Given the description of an element on the screen output the (x, y) to click on. 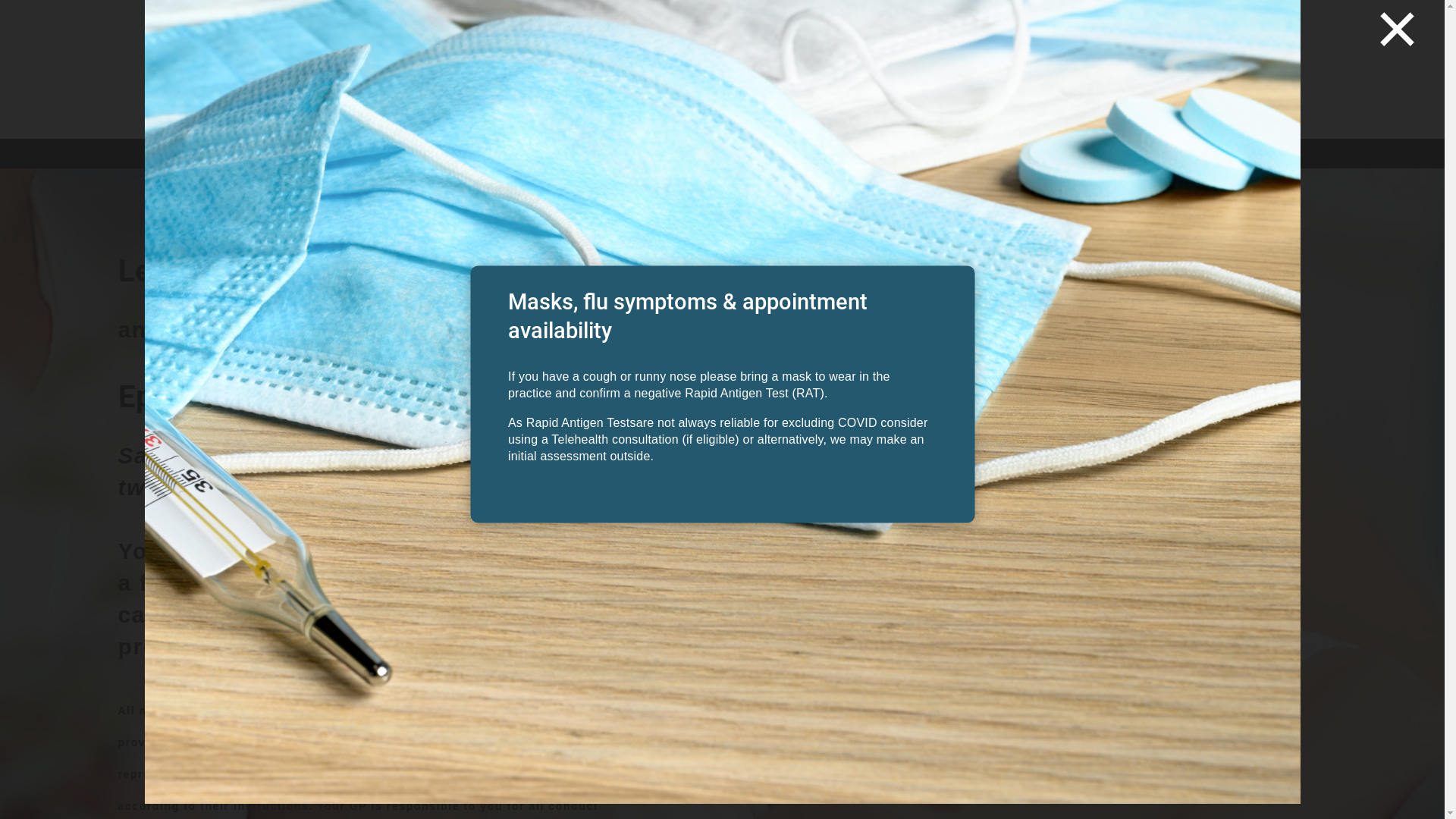
Your doctors Element type: text (392, 156)
About Element type: text (304, 156)
BOOK ONLINE - Lennox Head Medical Element type: text (1117, 30)
Updates Element type: text (682, 156)
Contact Element type: text (750, 156)
BOOK ONLINE - Epiq Medical Centre Lennox Head Element type: text (1117, 97)
Careers & training Element type: text (589, 156)
Services Element type: text (489, 156)
Home Element type: text (238, 156)
